Given the description of an element on the screen output the (x, y) to click on. 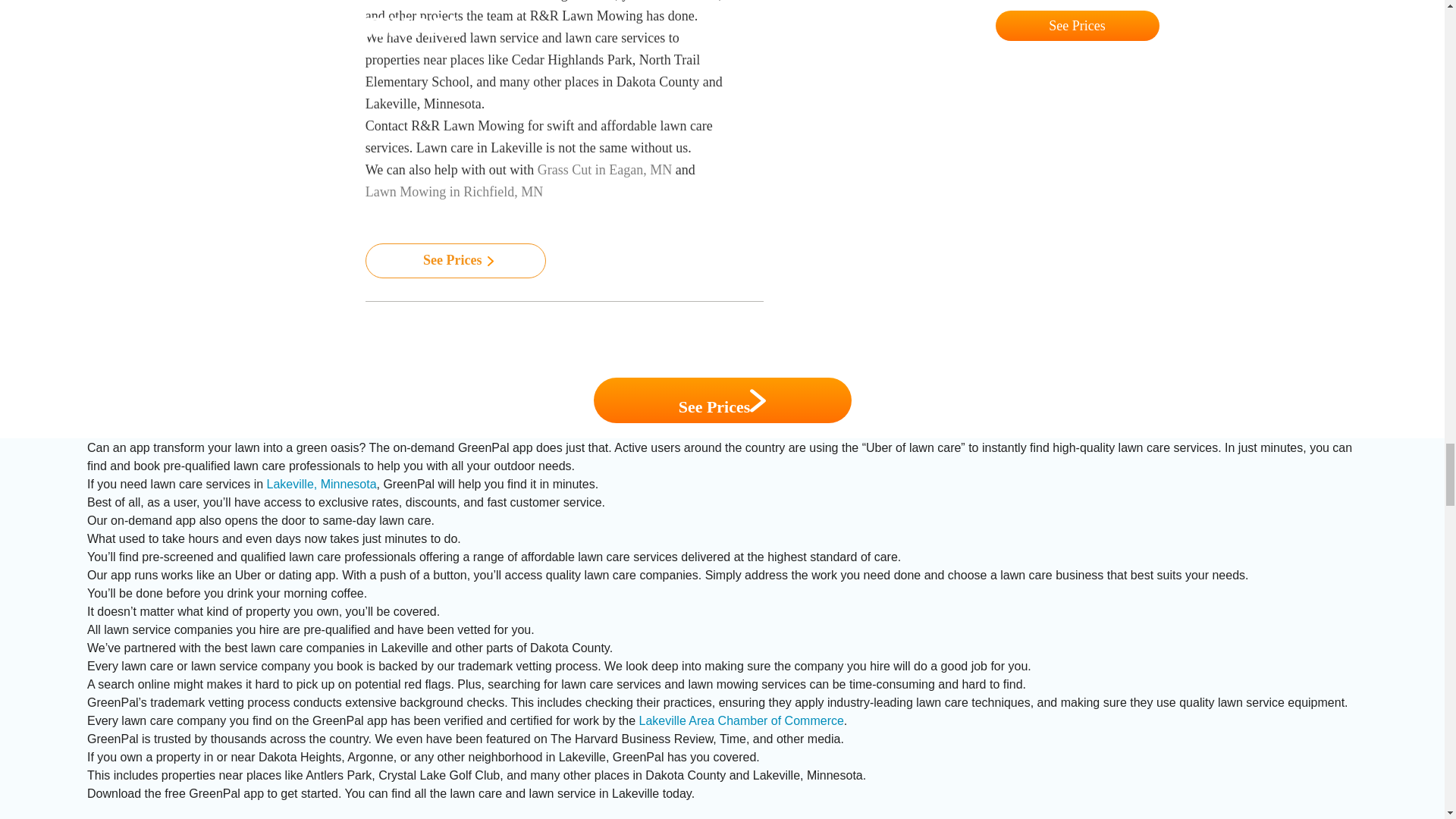
Lakeville, Minnesota (321, 483)
Lawn Mowing in Richfield, MN (454, 191)
See Prices (455, 260)
Grass Cut in Eagan, MN (606, 169)
Lakeville Area Chamber of Commerce (741, 720)
See Prices (721, 400)
